Given the description of an element on the screen output the (x, y) to click on. 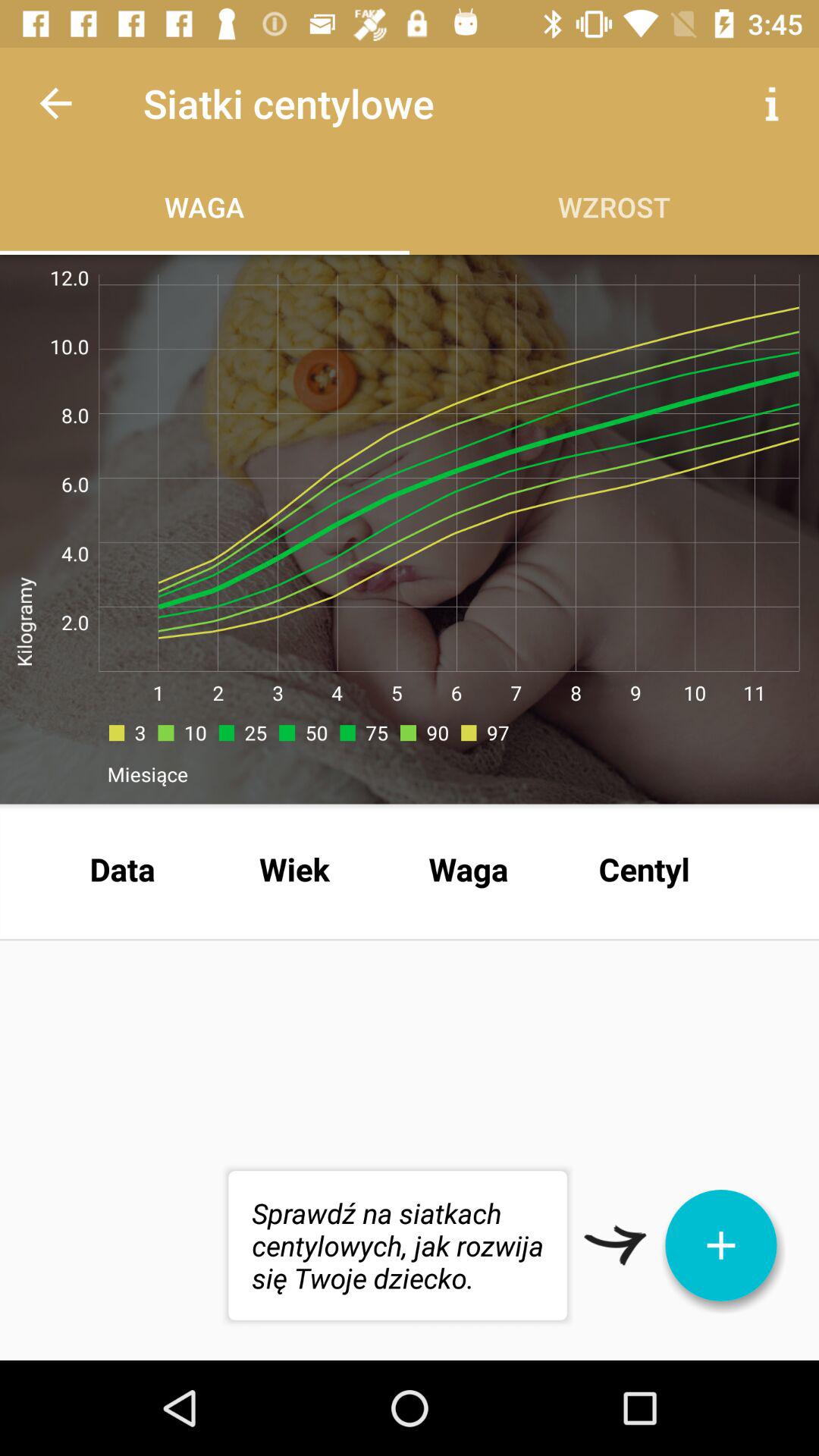
click the app to the left of siatki centylowe icon (55, 103)
